Given the description of an element on the screen output the (x, y) to click on. 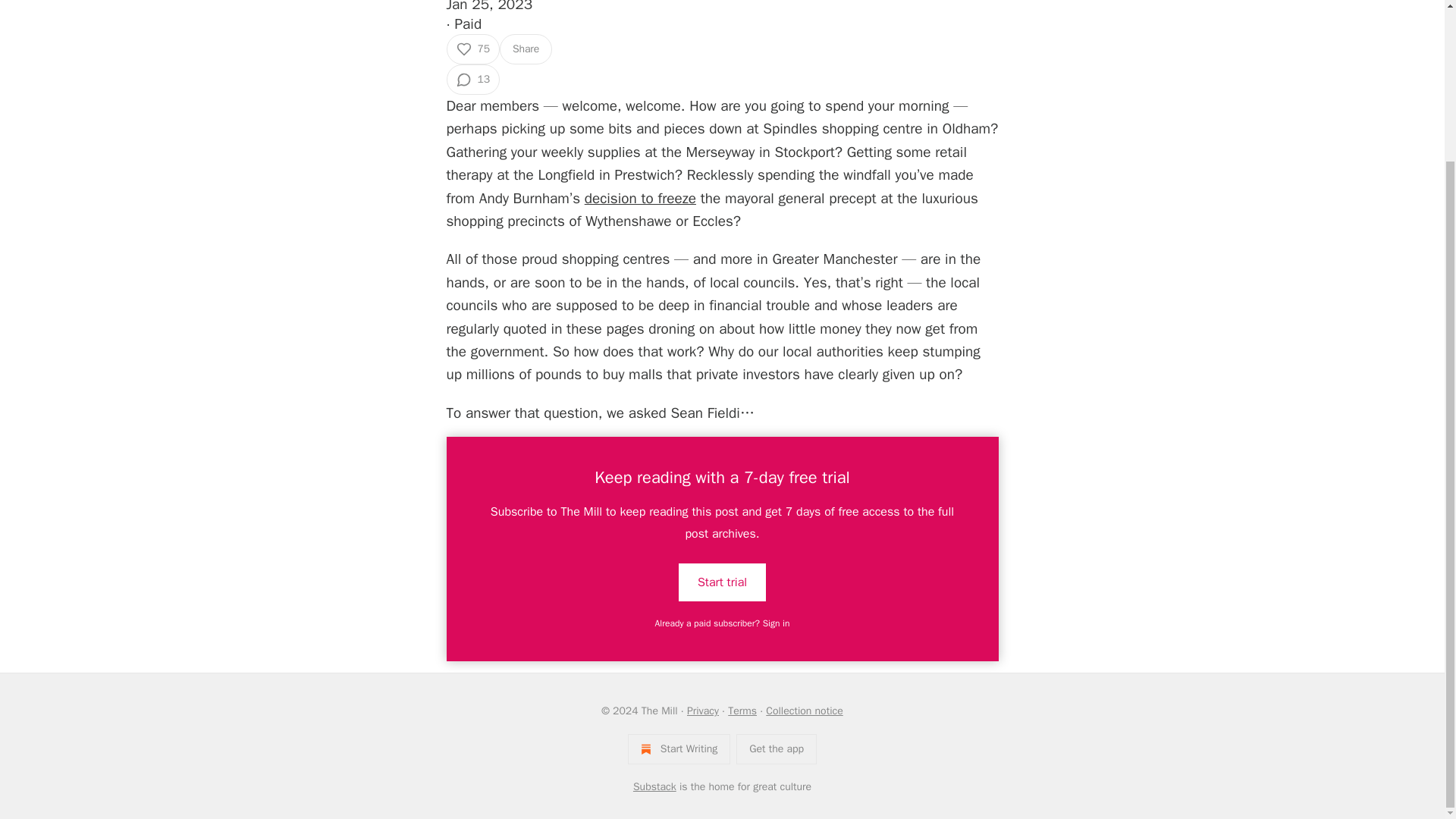
Privacy (703, 710)
13 (472, 79)
Terms (742, 710)
Collection notice (804, 710)
Substack (655, 786)
decision to freeze (640, 198)
75 (472, 49)
Already a paid subscriber? Sign in (722, 623)
Start Writing (678, 748)
Share (525, 49)
